Given the description of an element on the screen output the (x, y) to click on. 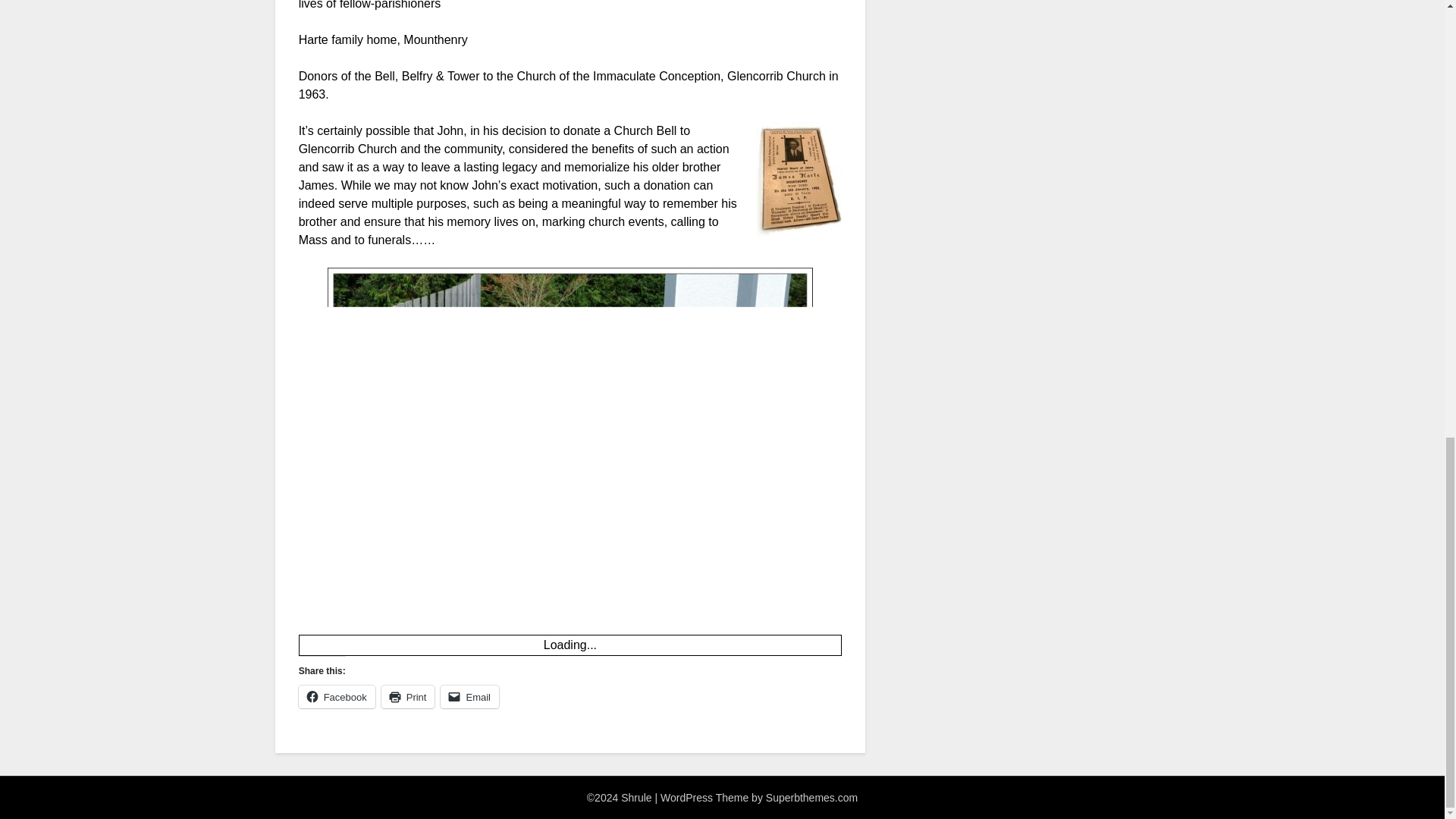
Click to print (408, 696)
Click to email a link to a friend (470, 696)
Click to share on Facebook (336, 696)
